Given the description of an element on the screen output the (x, y) to click on. 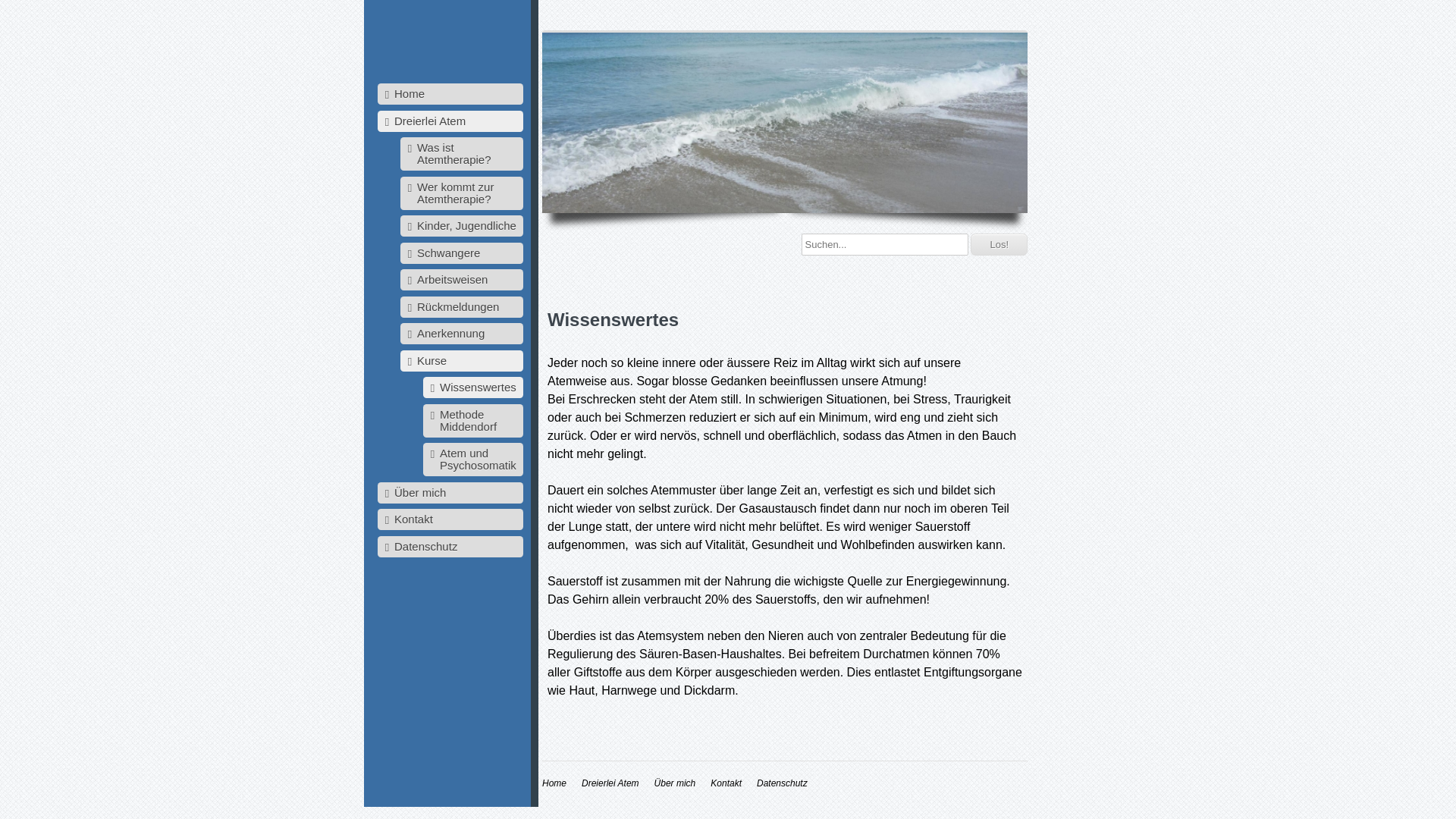
Atem und Psychosomatik Element type: text (473, 459)
Dreierlei Atem Element type: text (610, 783)
Wissenswertes Element type: text (473, 387)
Methode Middendorf Element type: text (473, 419)
Wer kommt zur Atemtherapie? Element type: text (462, 192)
Was ist Atemtherapie? Element type: text (462, 153)
Schwangere Element type: text (462, 252)
Kontakt Element type: text (725, 783)
Arbeitsweisen Element type: text (462, 279)
Home Element type: text (554, 783)
Dreierlei Atem Element type: text (450, 120)
Kontakt Element type: text (450, 519)
Datenschutz Element type: text (781, 783)
Kurse Element type: text (462, 360)
Los! Element type: text (998, 244)
Kinder, Jugendliche Element type: text (462, 225)
Home Element type: text (450, 93)
Anerkennung Element type: text (462, 333)
Datenschutz Element type: text (450, 545)
